Given the description of an element on the screen output the (x, y) to click on. 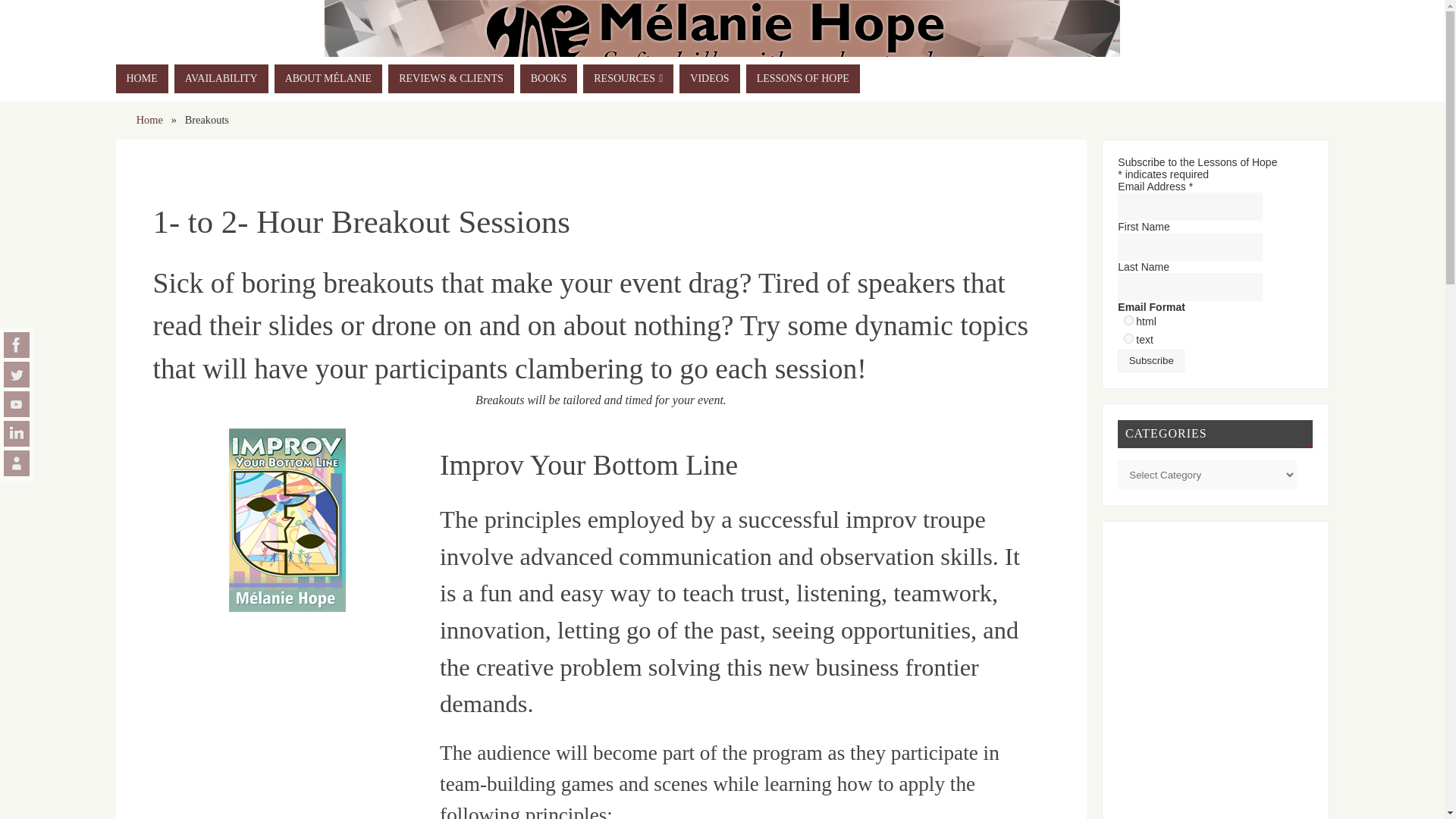
Subscribe (1151, 360)
Facebook (16, 344)
LESSONS OF HOPE (802, 78)
Twitter (16, 374)
Subscribe (1151, 360)
Improv Your Bottom Line (287, 519)
HOME (141, 78)
LinkedIn (16, 433)
BOOKS (547, 78)
RESOURCES (627, 78)
Home (149, 119)
YouTube (16, 403)
VIDEOS (709, 78)
text (1129, 338)
html (1129, 320)
